Given the description of an element on the screen output the (x, y) to click on. 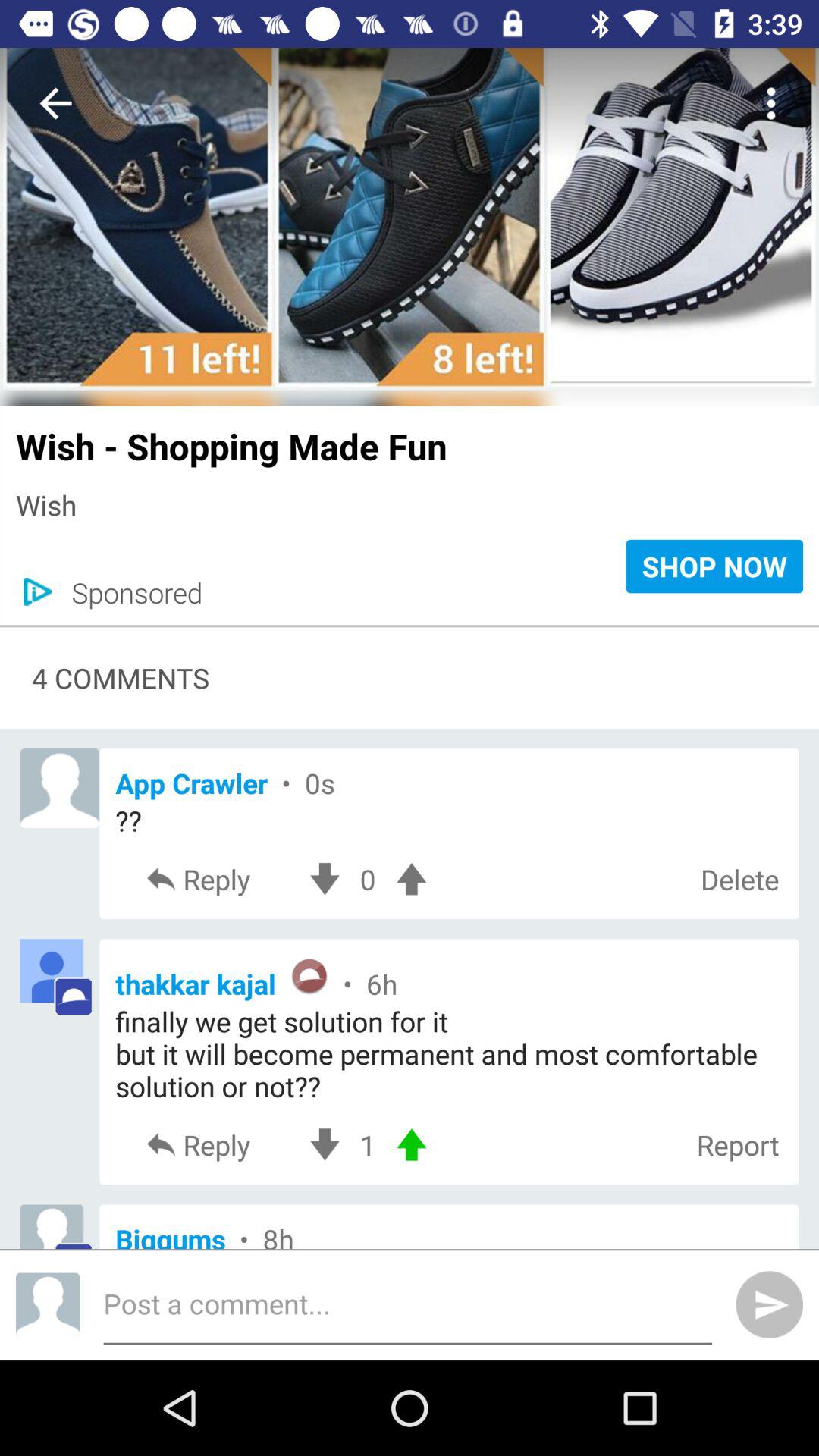
select item below 4 comments icon (449, 782)
